Given the description of an element on the screen output the (x, y) to click on. 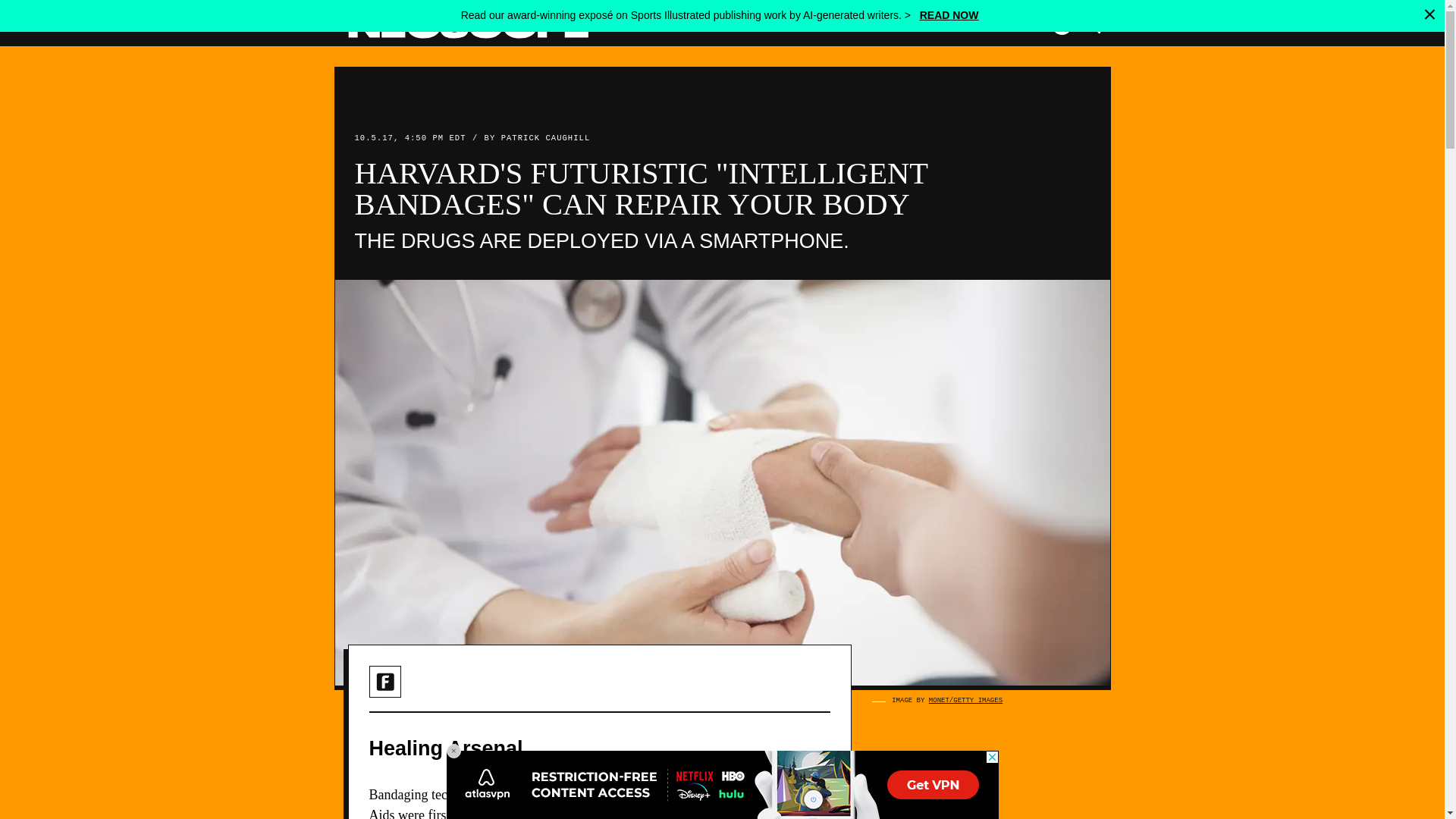
Patrick Caughill (545, 138)
Neoscope (467, 24)
PATRICK CAUGHILL (545, 138)
University of Nebraska-Lincoln (582, 813)
